Given the description of an element on the screen output the (x, y) to click on. 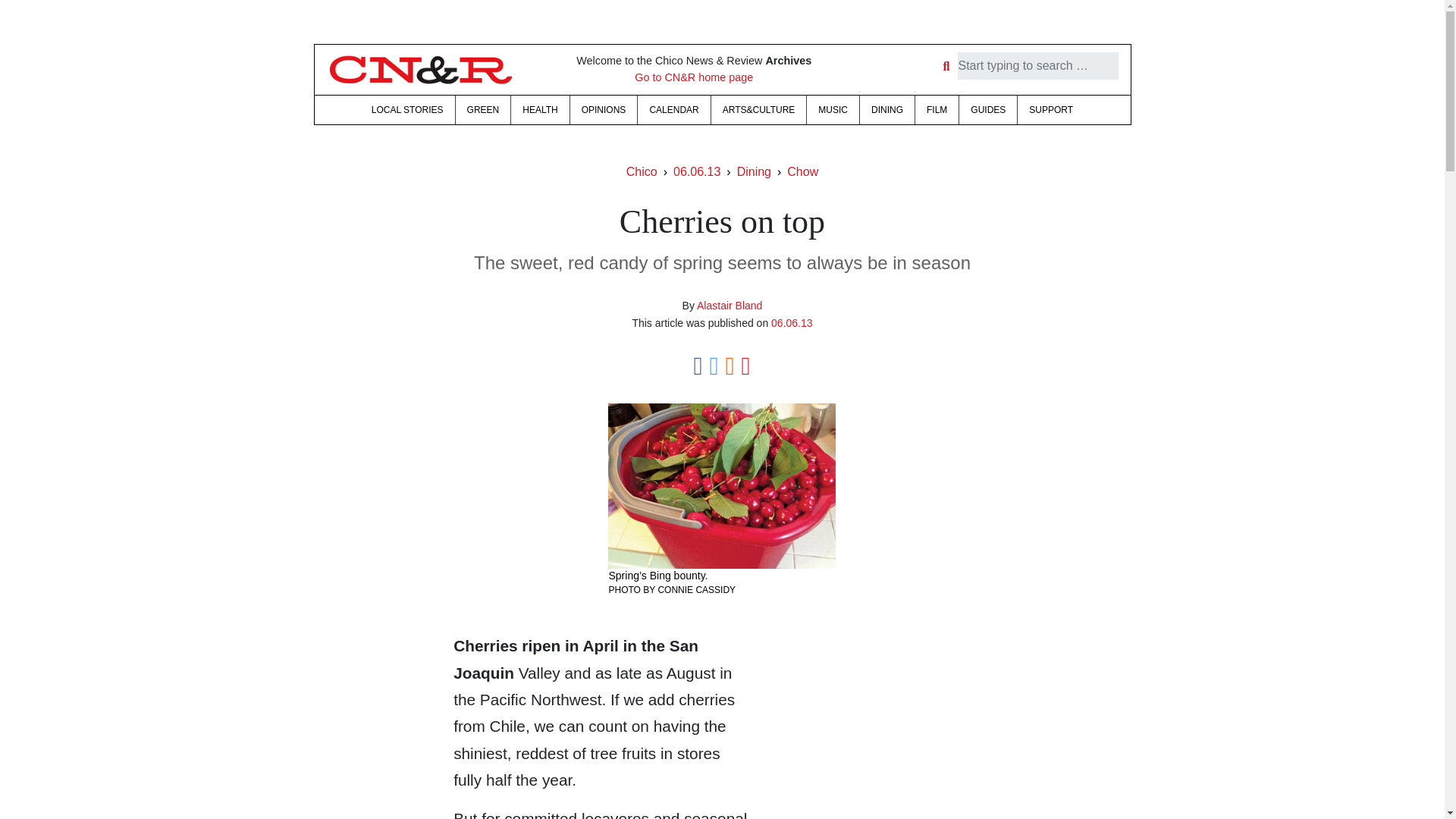
CALENDAR (673, 109)
FILM (936, 109)
LOCAL STORIES (406, 109)
Dining (753, 171)
DINING (887, 109)
GREEN (483, 109)
06.06.13 (696, 171)
GUIDES (987, 109)
Alastair Bland (729, 305)
Chow (802, 171)
MUSIC (832, 109)
Chico (642, 171)
06.06.13 (791, 322)
OPINIONS (603, 109)
SUPPORT (1050, 109)
